Given the description of an element on the screen output the (x, y) to click on. 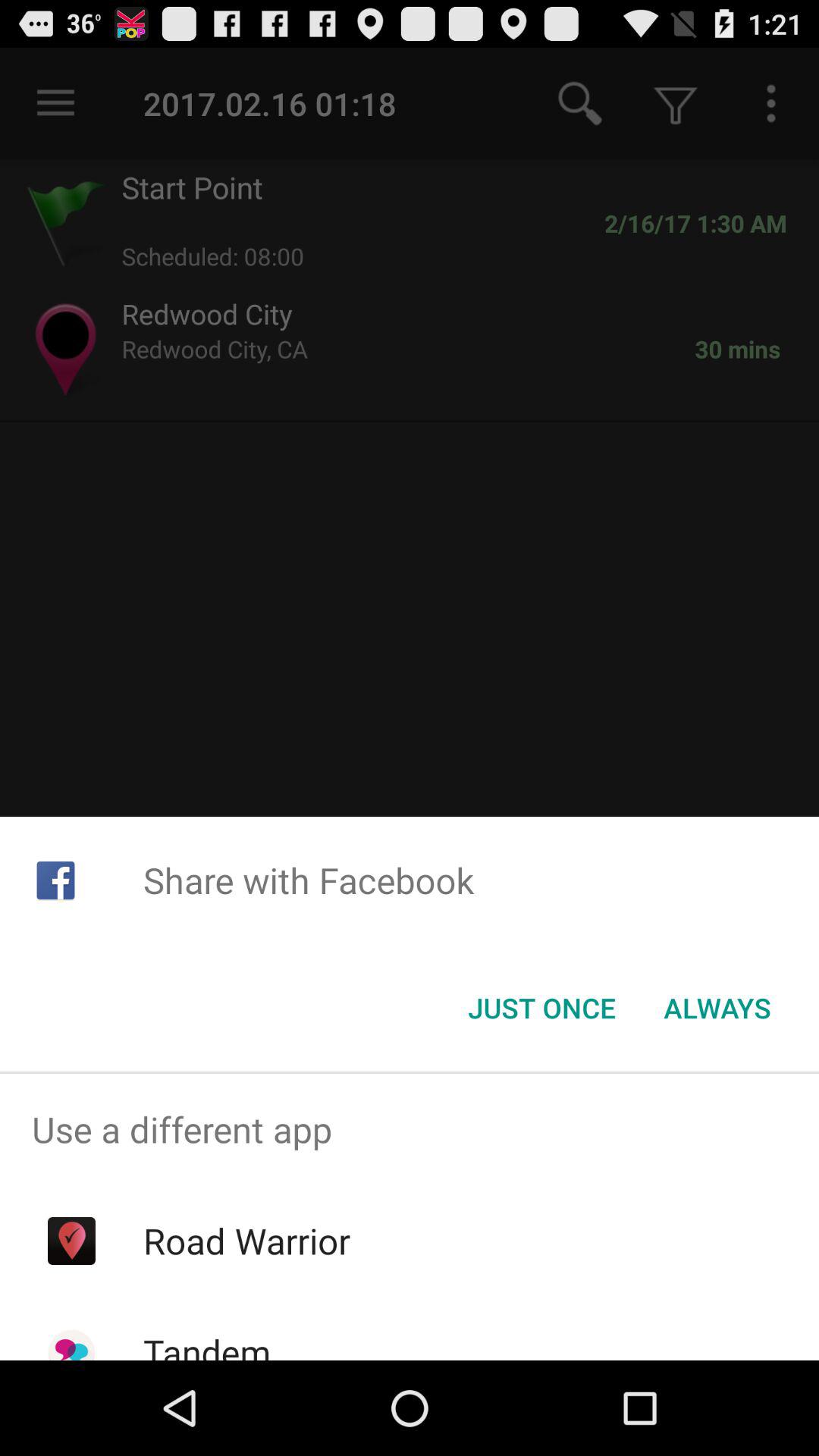
choose icon below the share with facebook (541, 1007)
